Given the description of an element on the screen output the (x, y) to click on. 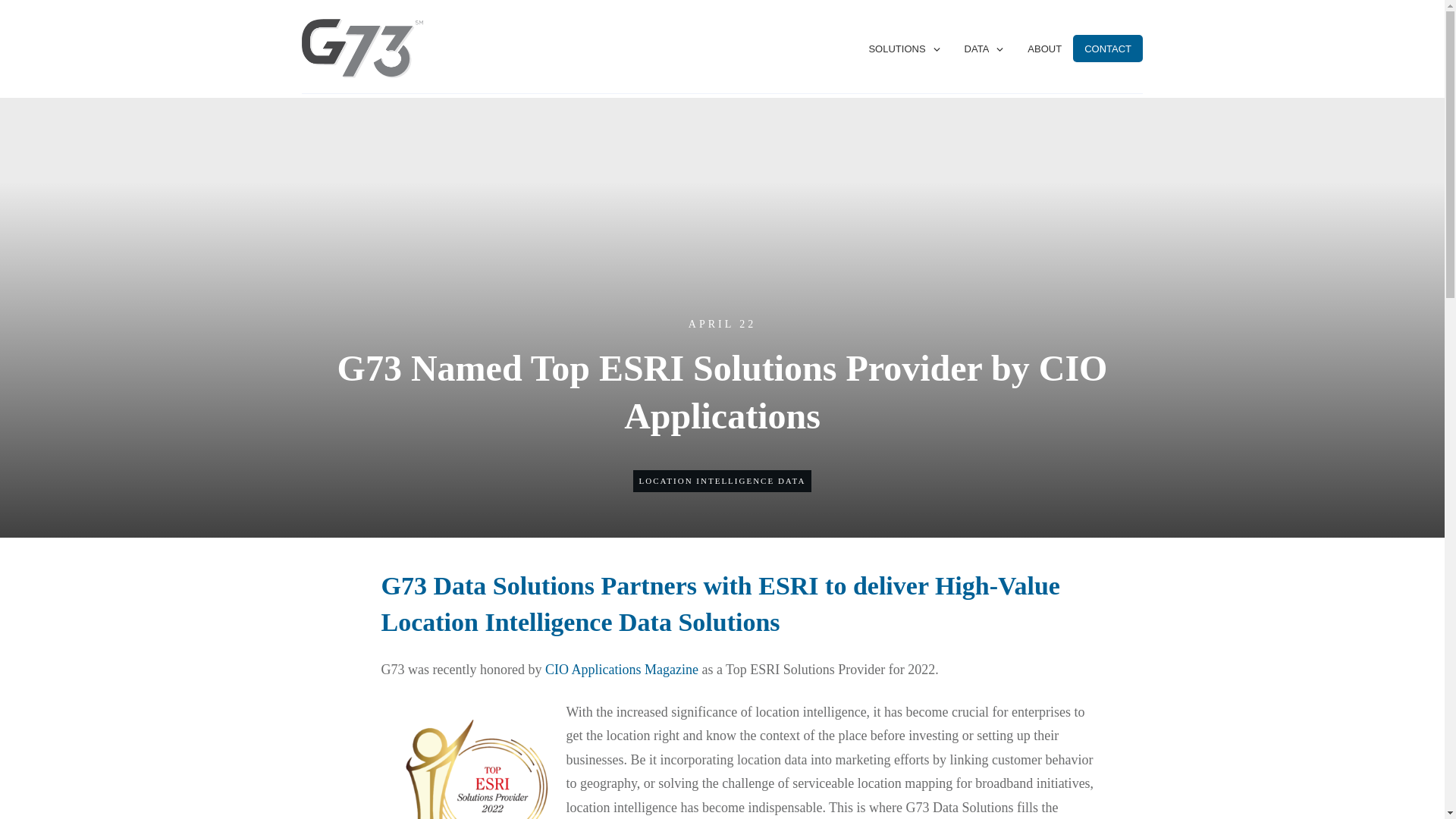
ABOUT (1044, 48)
CONTACT (1107, 48)
LOCATION INTELLIGENCE DATA (722, 480)
Location Intelligence Data (722, 480)
CIO Applications Magazine (621, 669)
DATA (984, 48)
SOLUTIONS (903, 48)
